Given the description of an element on the screen output the (x, y) to click on. 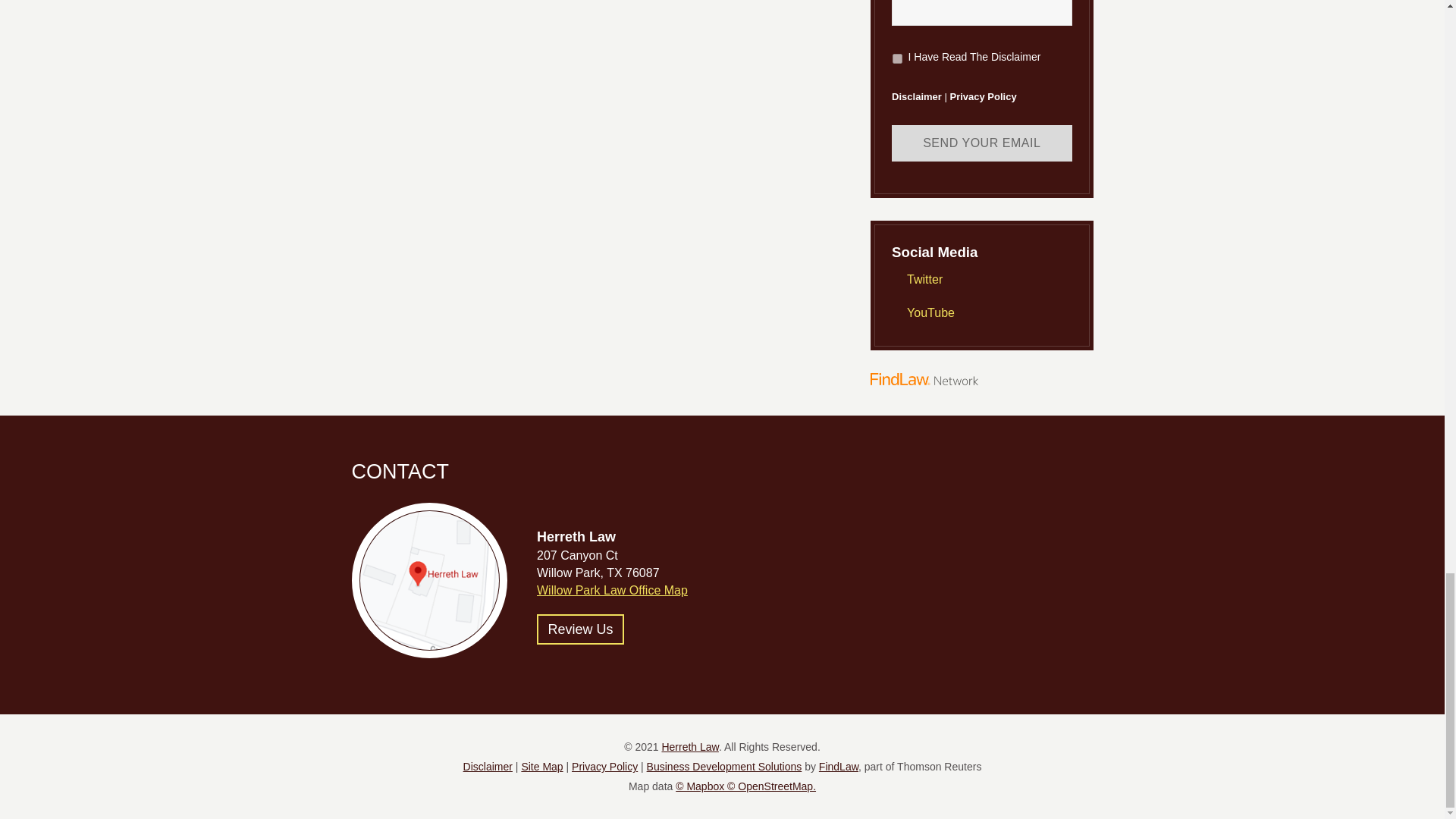
Send Your Email (981, 143)
I Have Read The Disclaimer (897, 58)
